Given the description of an element on the screen output the (x, y) to click on. 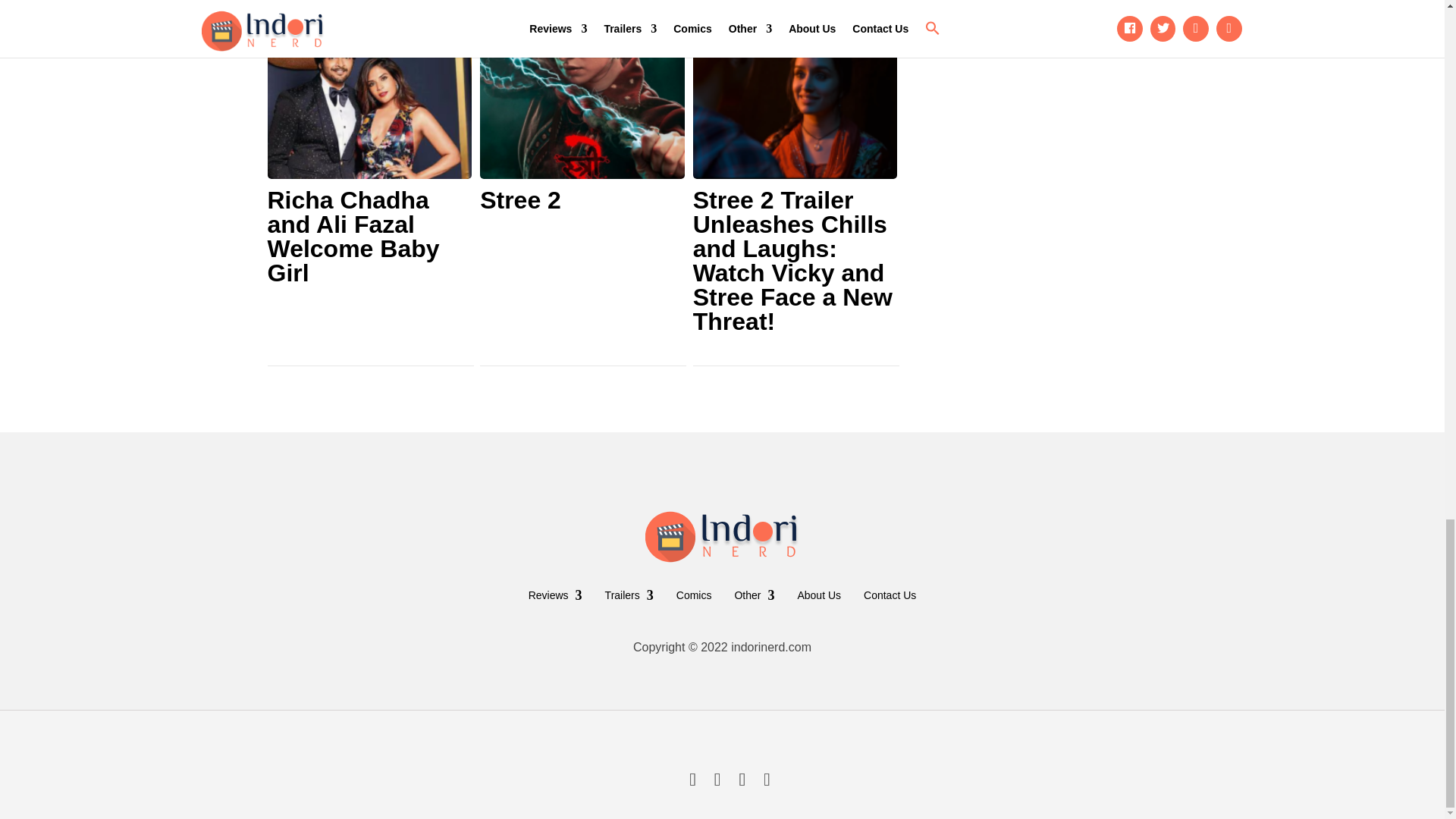
Stree 2 (582, 200)
Richa Chadha and Ali Fazal Welcome Baby Girl (368, 236)
Stree 2 (582, 200)
Richa Chadha and Ali Fazal Welcome Baby Girl (368, 236)
